Given the description of an element on the screen output the (x, y) to click on. 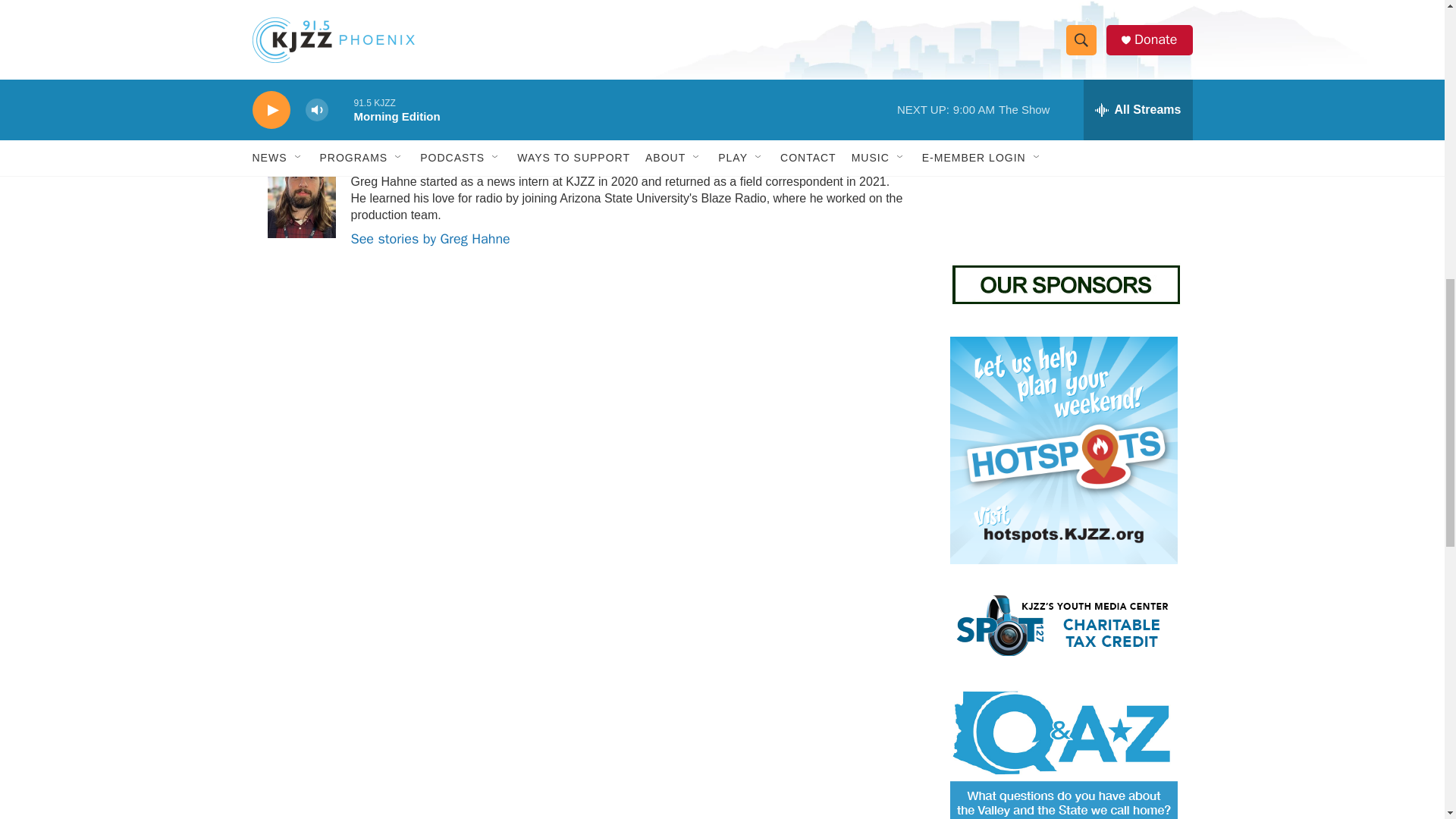
Spot 127 web site (1062, 625)
3rd party ad content (1062, 137)
